Given the description of an element on the screen output the (x, y) to click on. 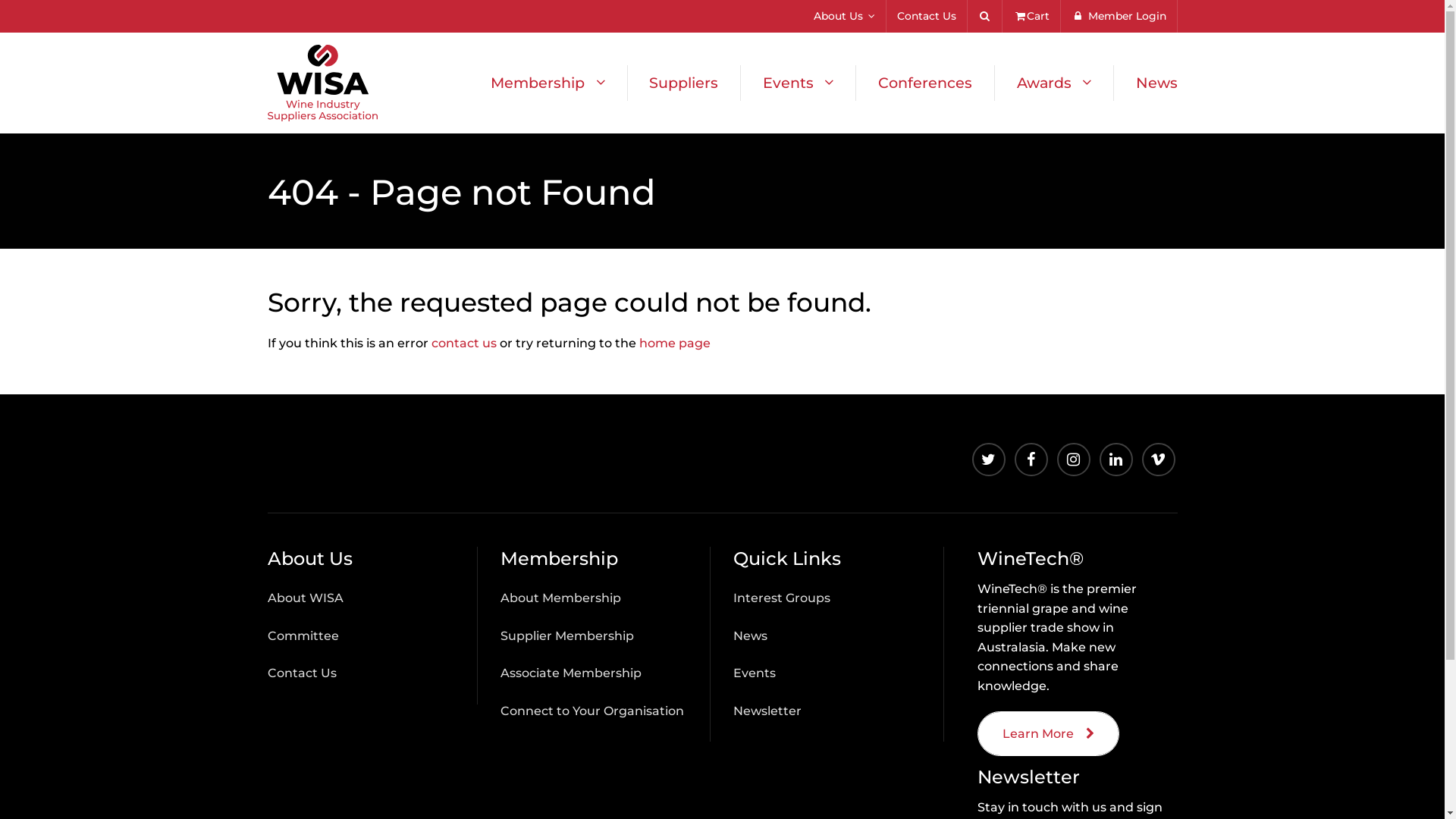
contact us Element type: text (462, 342)
About Us Element type: text (844, 16)
About Membership Element type: text (560, 597)
Membership Element type: text (548, 82)
News Element type: text (750, 635)
home page Element type: text (673, 342)
Contact Us Element type: text (300, 672)
Connect to Your Organisation Element type: text (592, 710)
About WISA Element type: text (304, 597)
Events Element type: text (754, 672)
News Element type: text (1145, 82)
Supplier Membership Element type: text (566, 635)
Learn More Element type: text (1048, 733)
Interest Groups Element type: text (781, 597)
Committee Element type: text (302, 635)
Cart Element type: text (1031, 16)
Conferences Element type: text (925, 82)
Contact Us Element type: text (926, 16)
Awards Element type: text (1053, 82)
Newsletter Element type: text (767, 710)
Suppliers Element type: text (683, 82)
Events Element type: text (797, 82)
Member Login Element type: text (1118, 16)
Associate Membership Element type: text (570, 672)
